Given the description of an element on the screen output the (x, y) to click on. 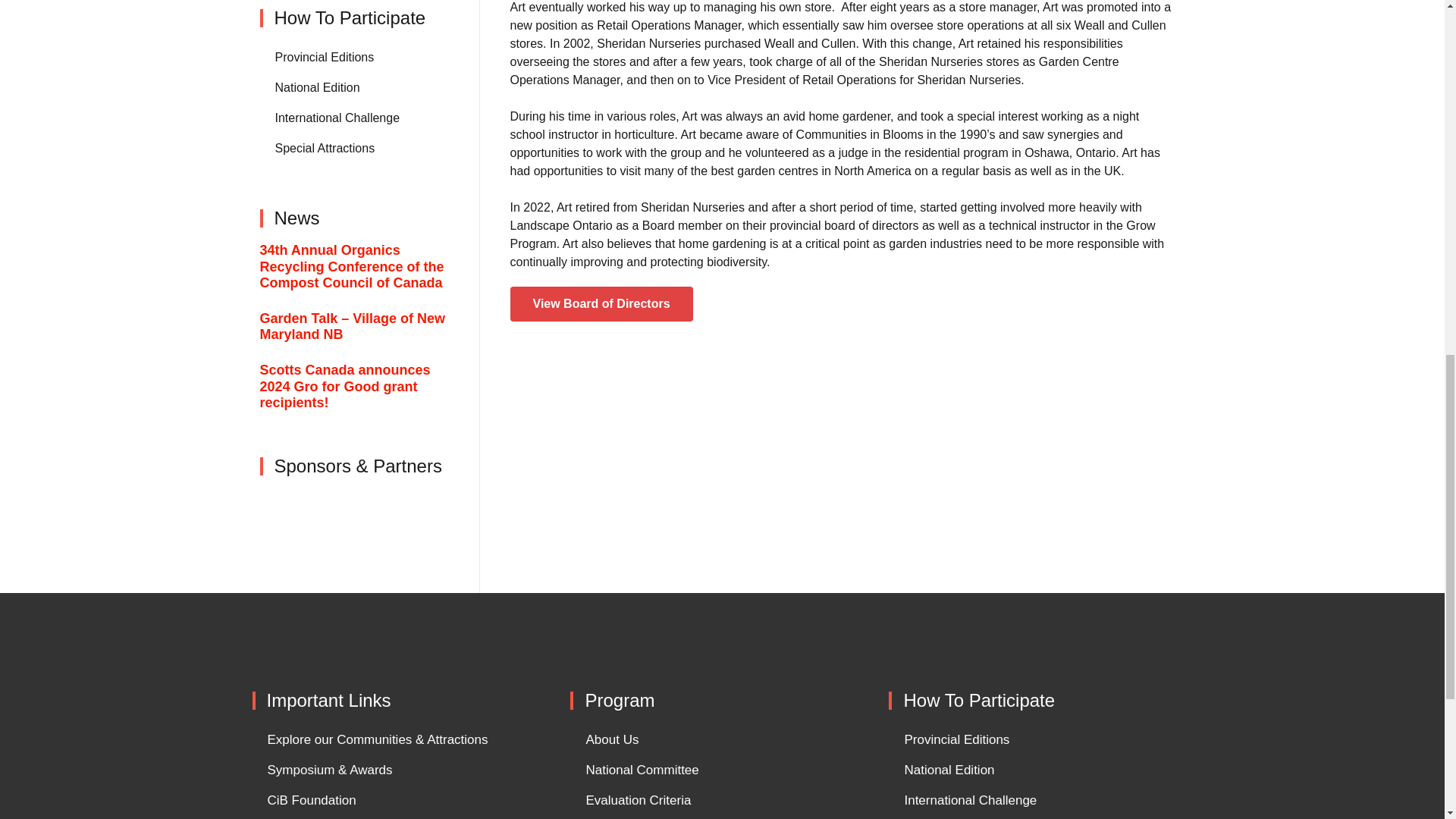
Provincial Editions (357, 57)
International Challenge (357, 118)
National Edition (357, 87)
